Given the description of an element on the screen output the (x, y) to click on. 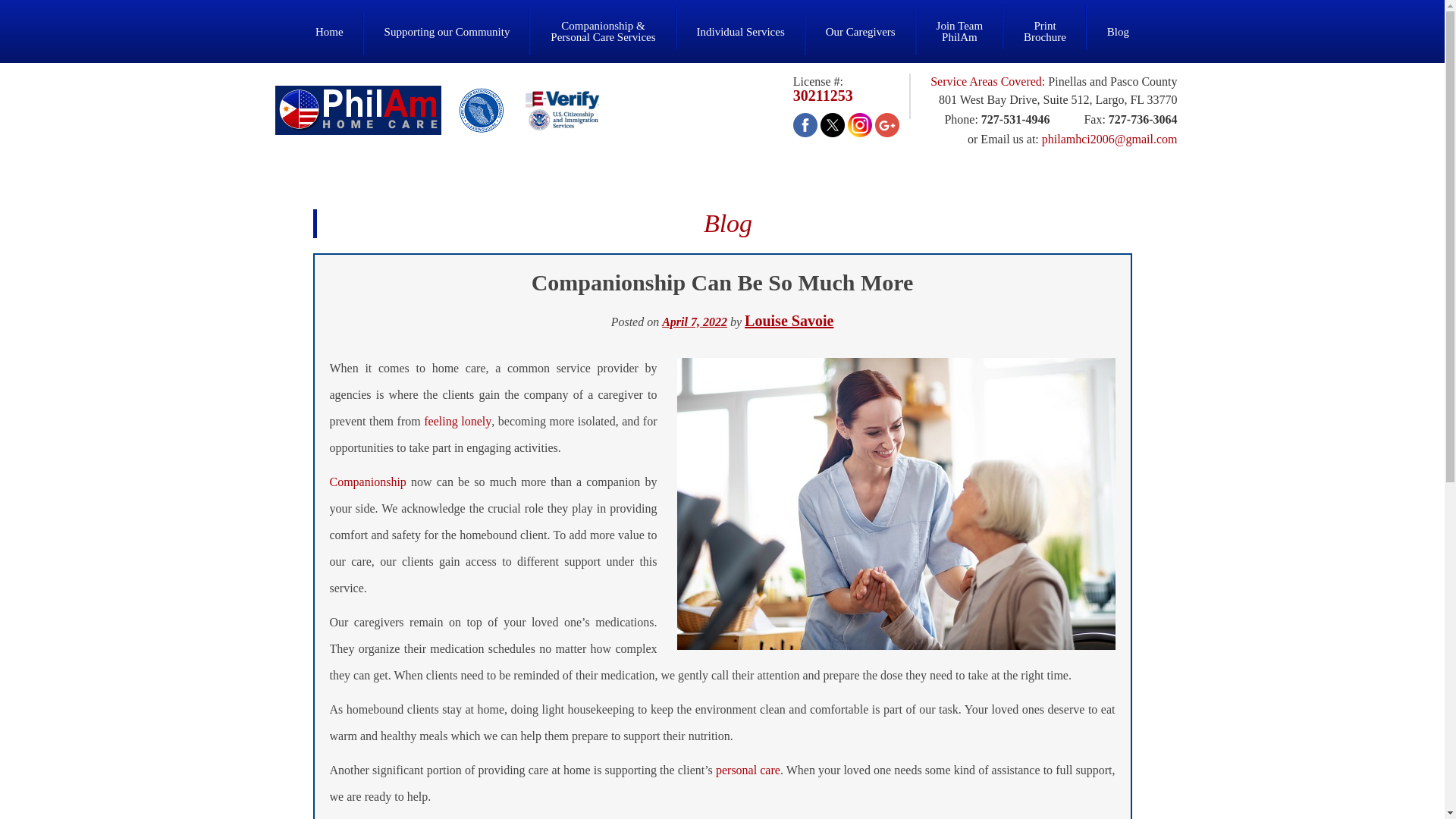
Our Caregivers (860, 21)
Louise Savoie (788, 320)
6:00 am (694, 321)
727-736-3064 (1142, 119)
View all posts by Louise Savoie (788, 320)
Companionship (367, 481)
Individual Services (740, 21)
feeling lonely (457, 420)
727-531-4946 (1044, 21)
personal care (1015, 119)
Supporting our Community (748, 768)
April 7, 2022 (960, 21)
